Given the description of an element on the screen output the (x, y) to click on. 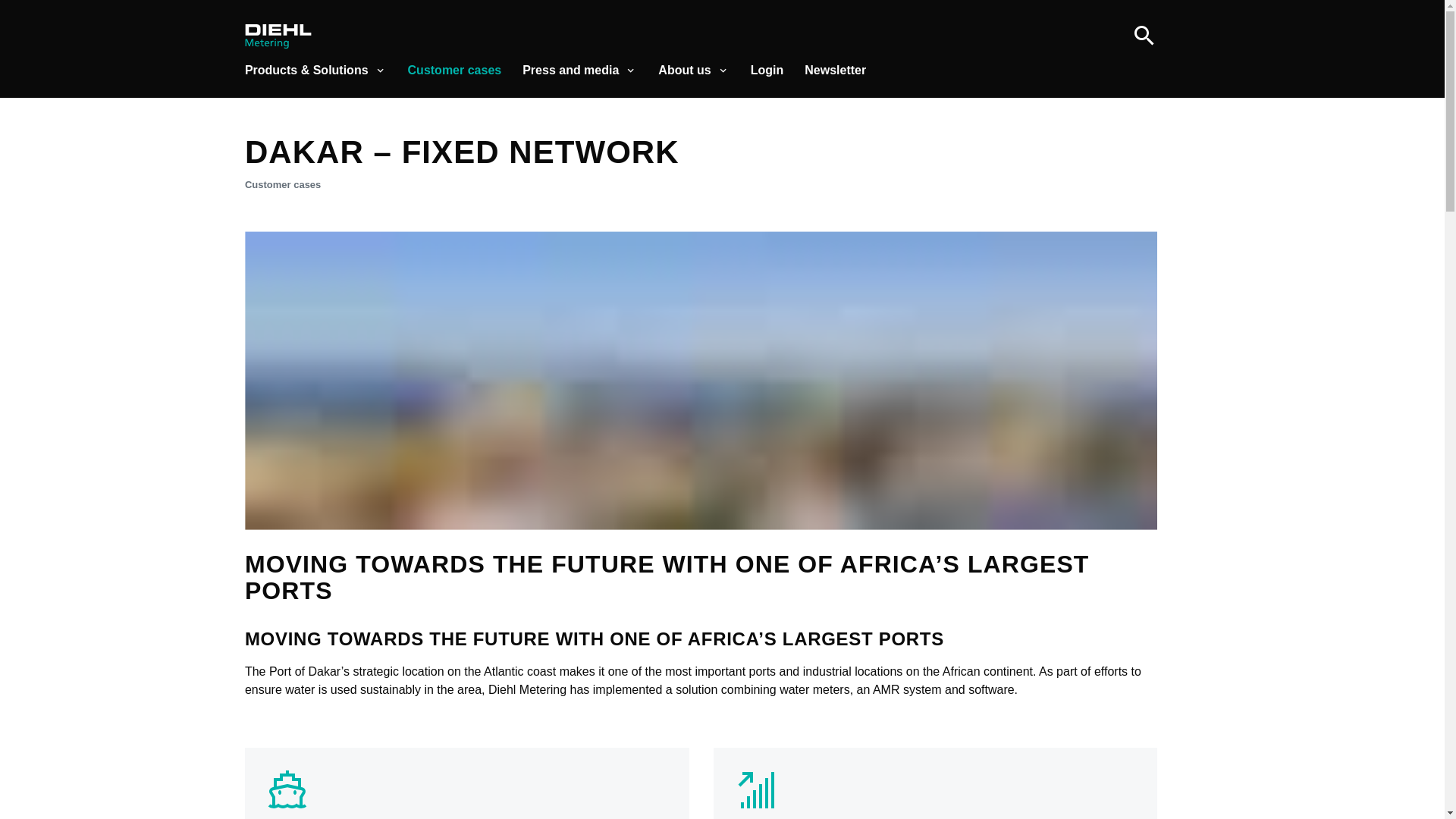
About us (693, 70)
Press and media (579, 70)
Customer cases (454, 70)
Search (1144, 35)
